Given the description of an element on the screen output the (x, y) to click on. 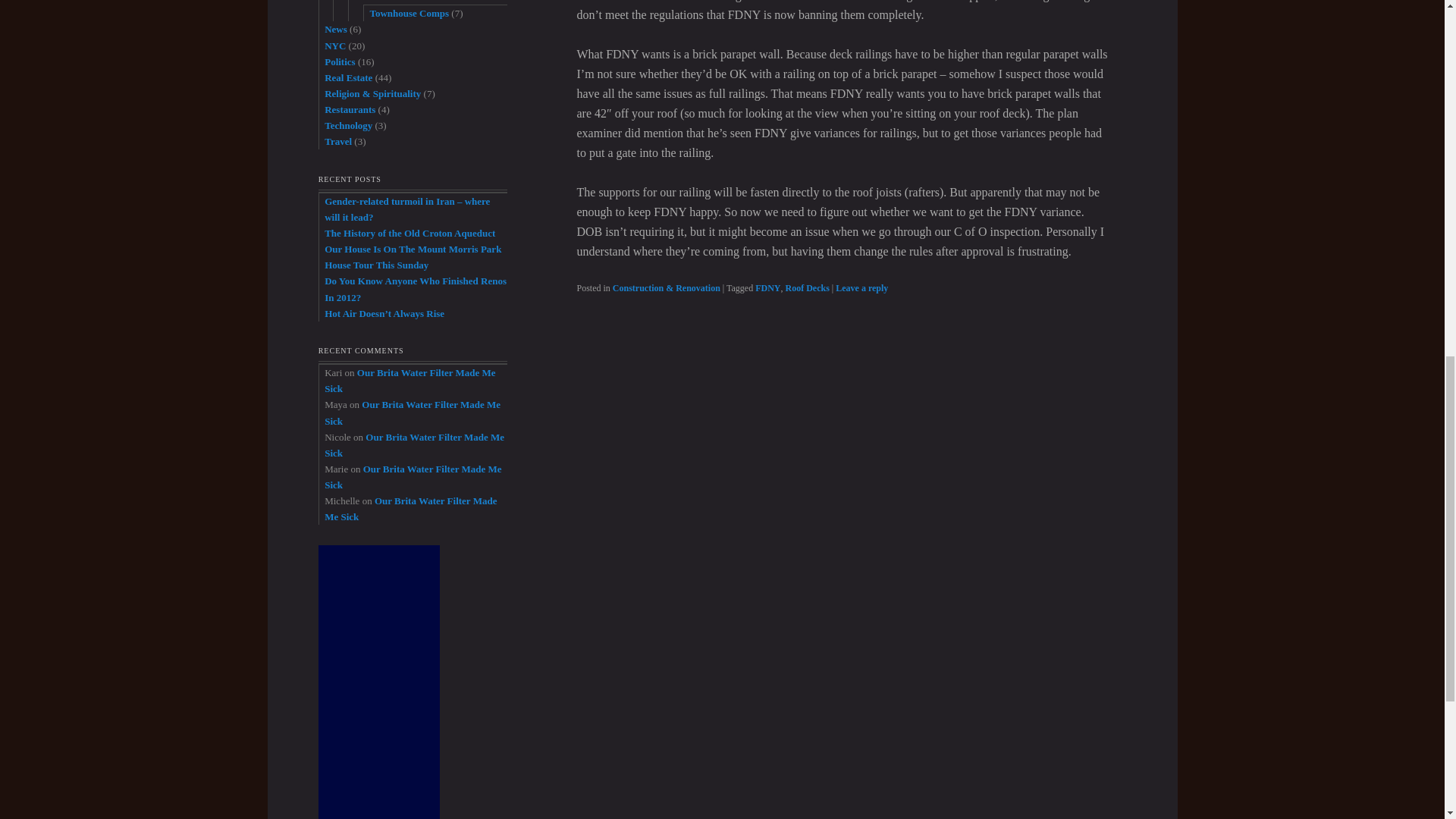
Roof Decks (807, 287)
FDNY (767, 287)
Leave a reply (861, 287)
